Given the description of an element on the screen output the (x, y) to click on. 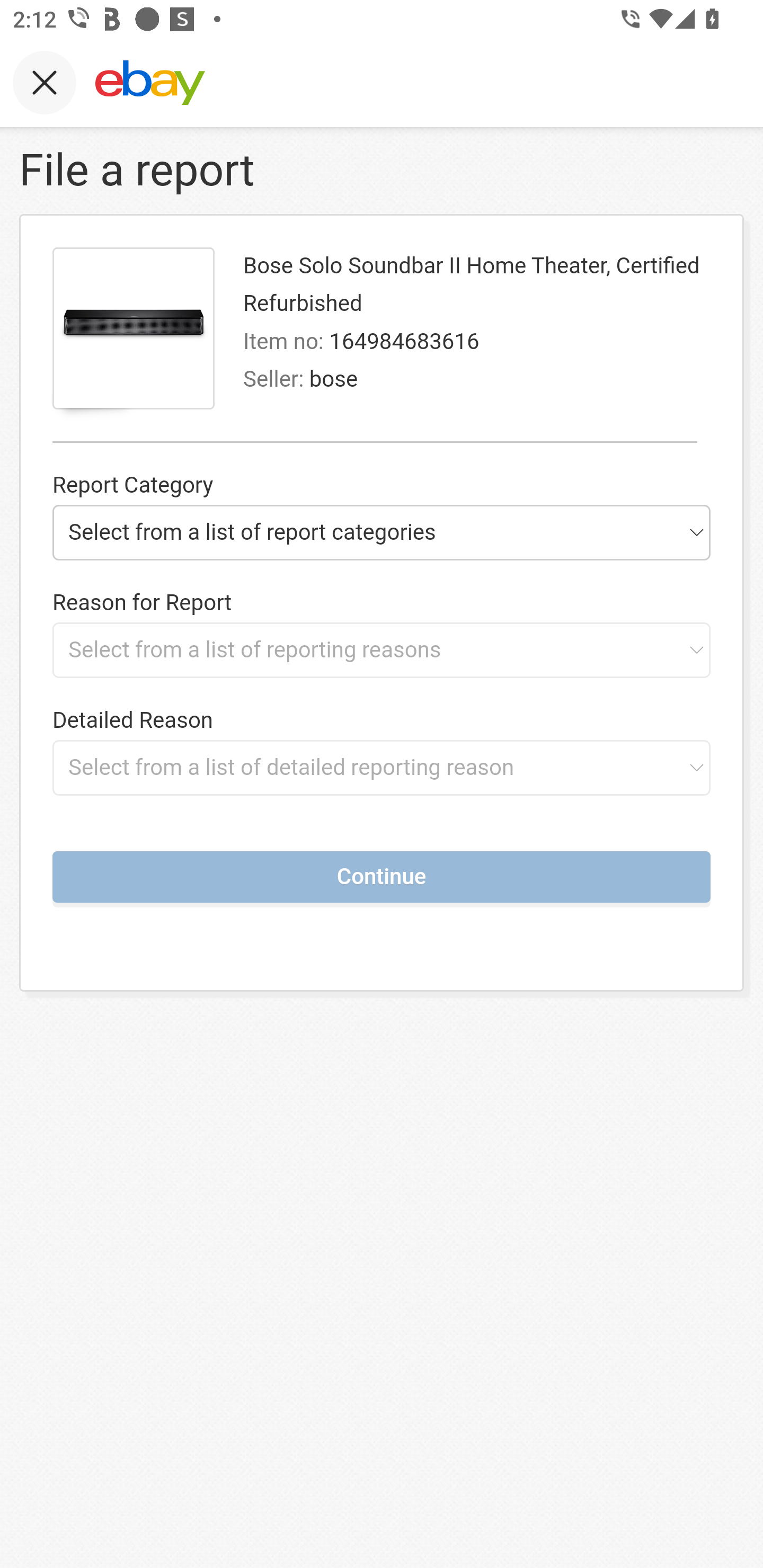
Close (44, 82)
Select from a list of report categories (381, 532)
Select from a list of reporting reasons (381, 649)
Select from a list of detailed reporting reason (381, 767)
Continue (381, 876)
